Given the description of an element on the screen output the (x, y) to click on. 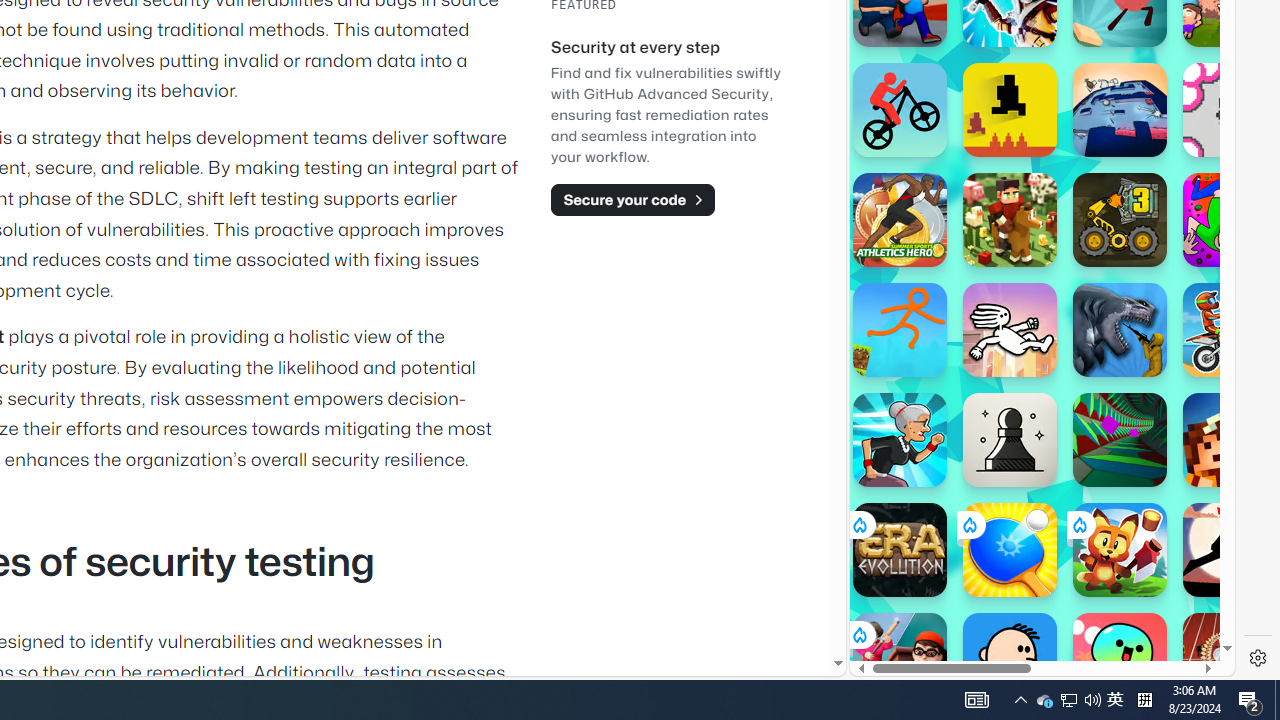
Era: Evolution Era: Evolution (899, 549)
Stickman Parkour Skyland Stickman Parkour Skyland (899, 329)
Combat Reloaded (1092, 300)
Big Tower Tiny Square (1119, 109)
Blumgi Slime (1119, 659)
Into the Pit (1229, 109)
Level Devil (1009, 109)
Big Tower Tiny Square Big Tower Tiny Square (1119, 109)
Tunnel Rush Tunnel Rush (1119, 439)
Athletics Hero (899, 219)
JollyWorld (1229, 219)
BoxRob 3 (1119, 219)
Stickman Parkour Skyland (899, 329)
